Given the description of an element on the screen output the (x, y) to click on. 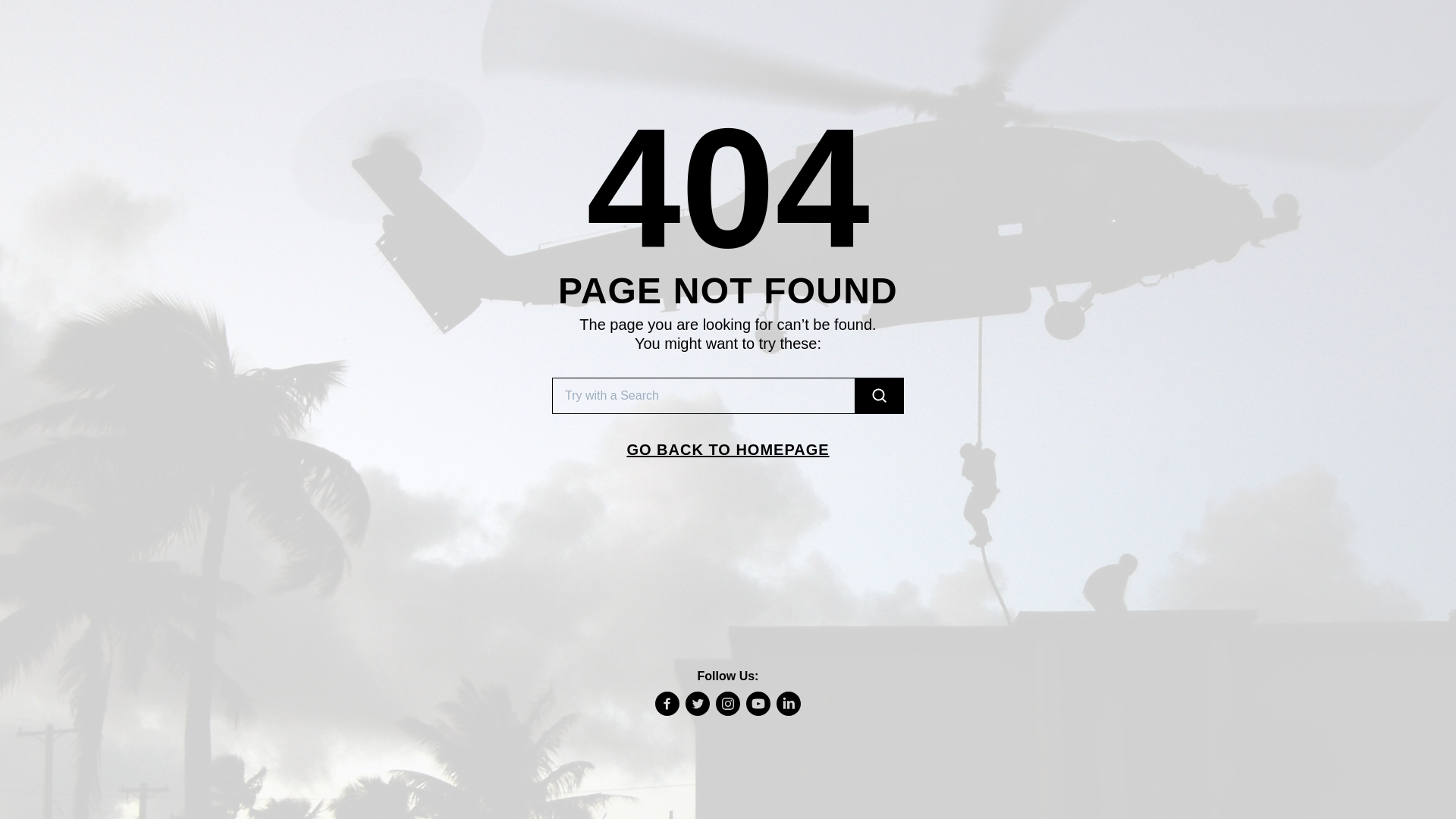
GO BACK TO HOMEPAGE (727, 449)
